Given the description of an element on the screen output the (x, y) to click on. 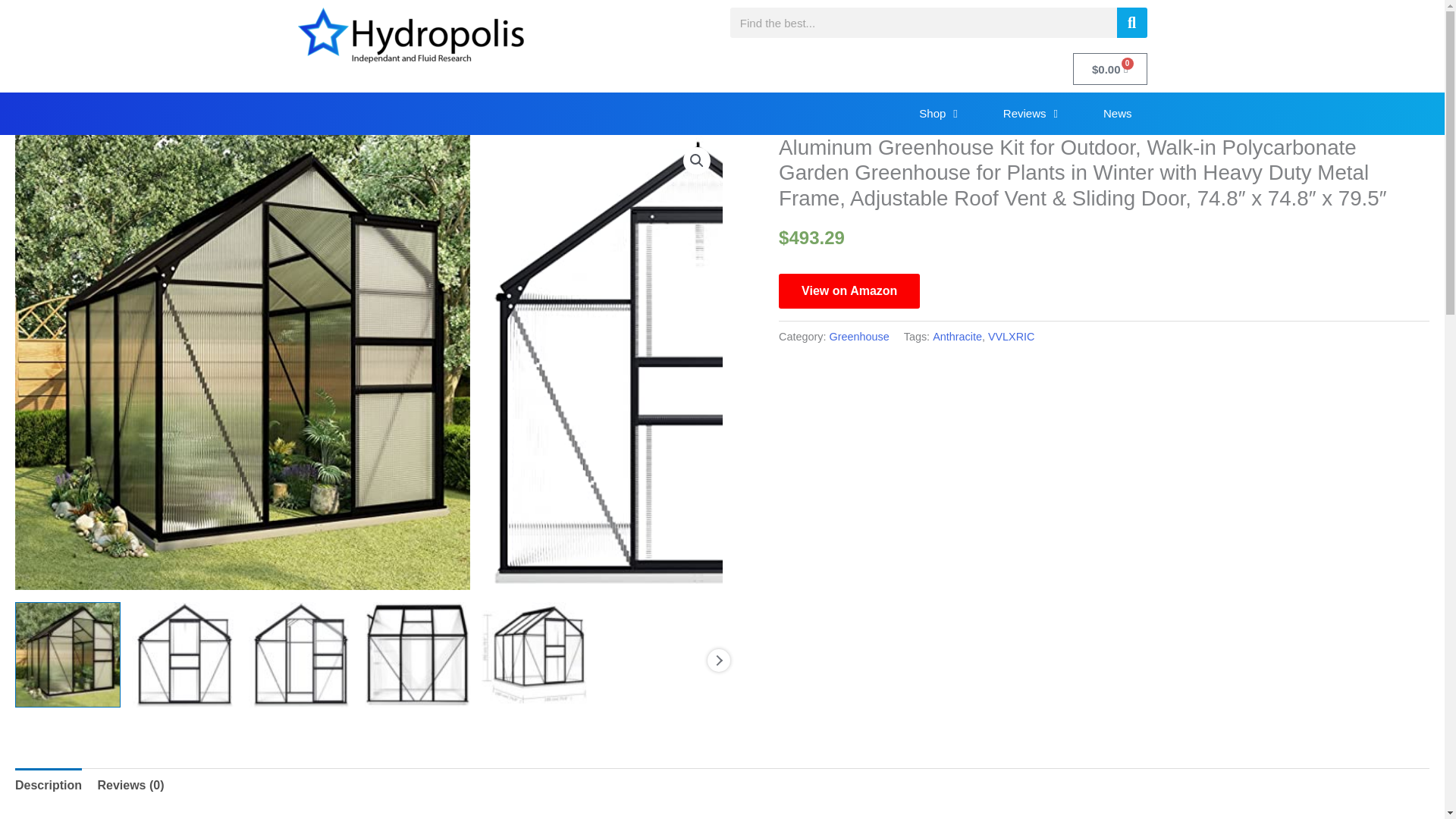
News (1117, 113)
Shop (937, 113)
Reviews (1029, 113)
Search (1131, 22)
